Given the description of an element on the screen output the (x, y) to click on. 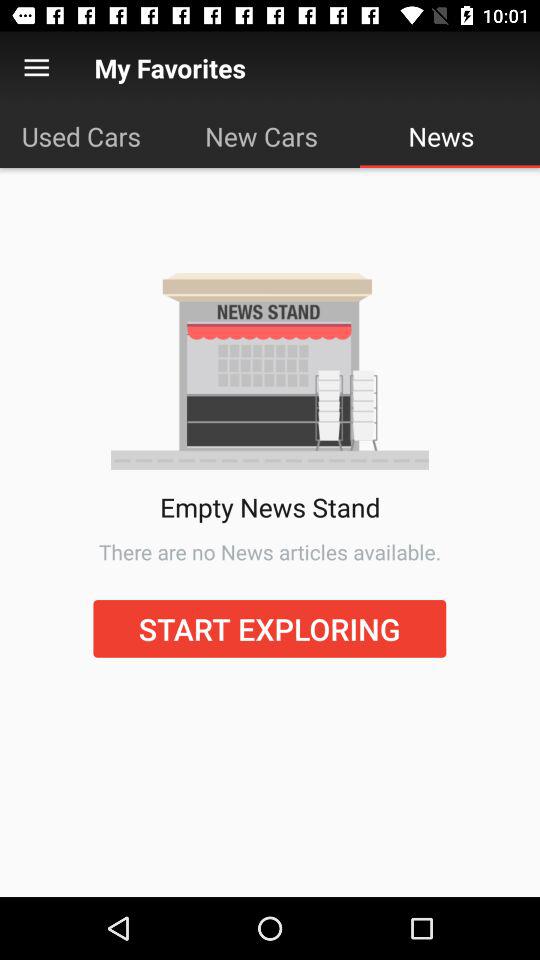
select the icon below the there are no item (269, 628)
